Given the description of an element on the screen output the (x, y) to click on. 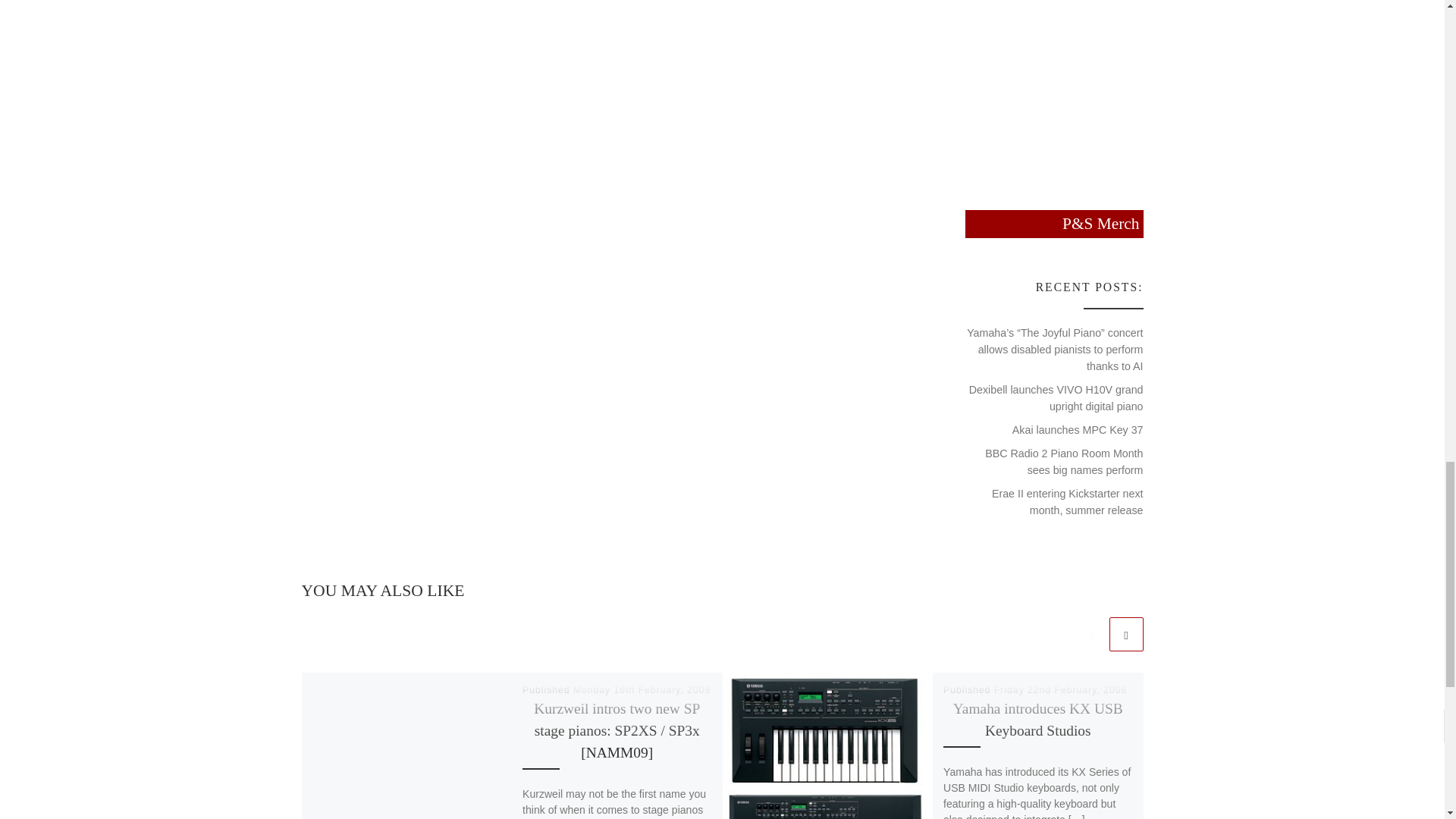
Monday 16th February, 2009 (641, 689)
Friday 22nd February, 2008 (1060, 689)
Previous related articles (1092, 634)
Next related articles (1125, 634)
Yamaha introduces KX USB Keyboard Studios (1037, 719)
